Given the description of an element on the screen output the (x, y) to click on. 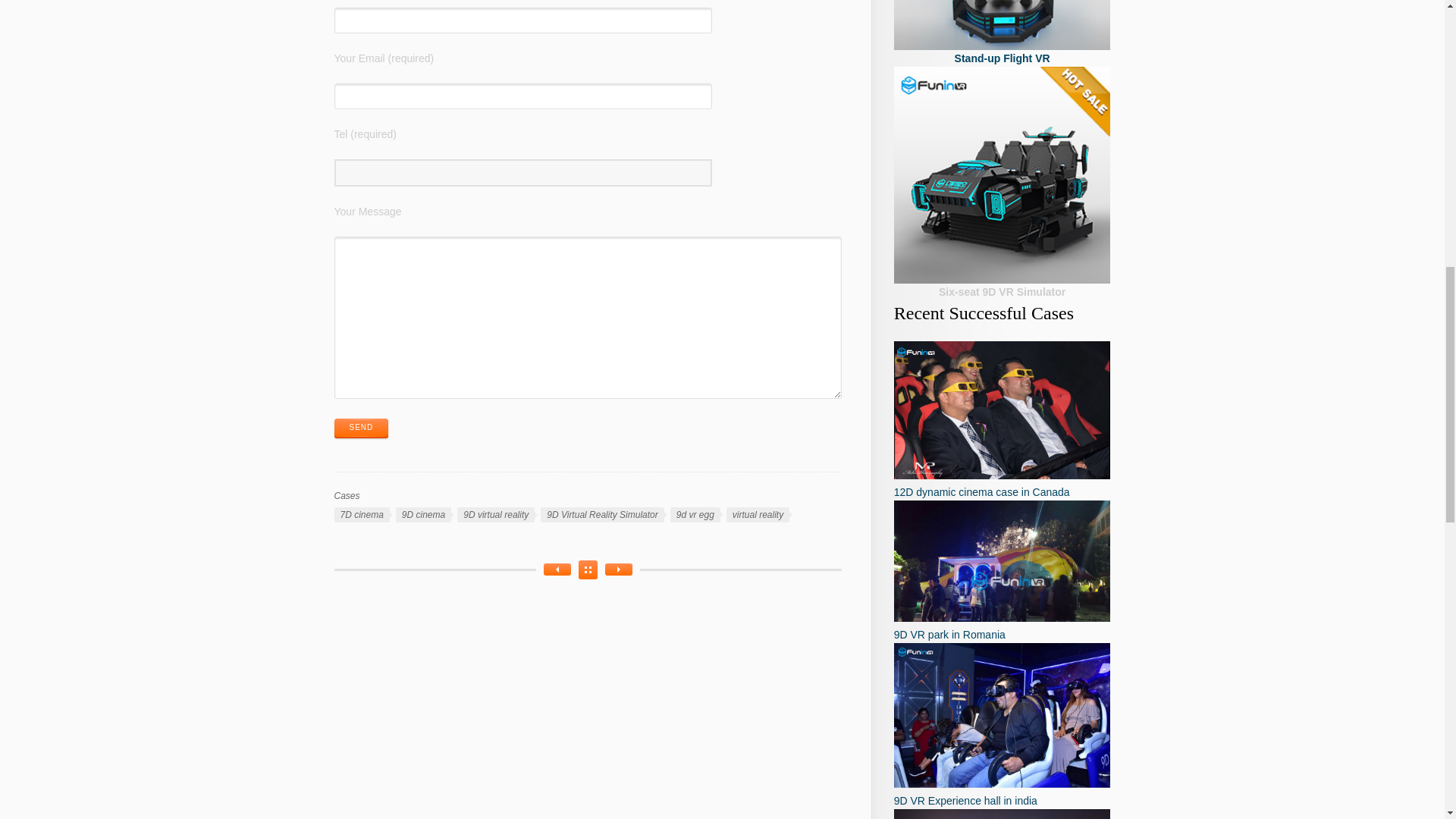
9D VR (1001, 24)
